Given the description of an element on the screen output the (x, y) to click on. 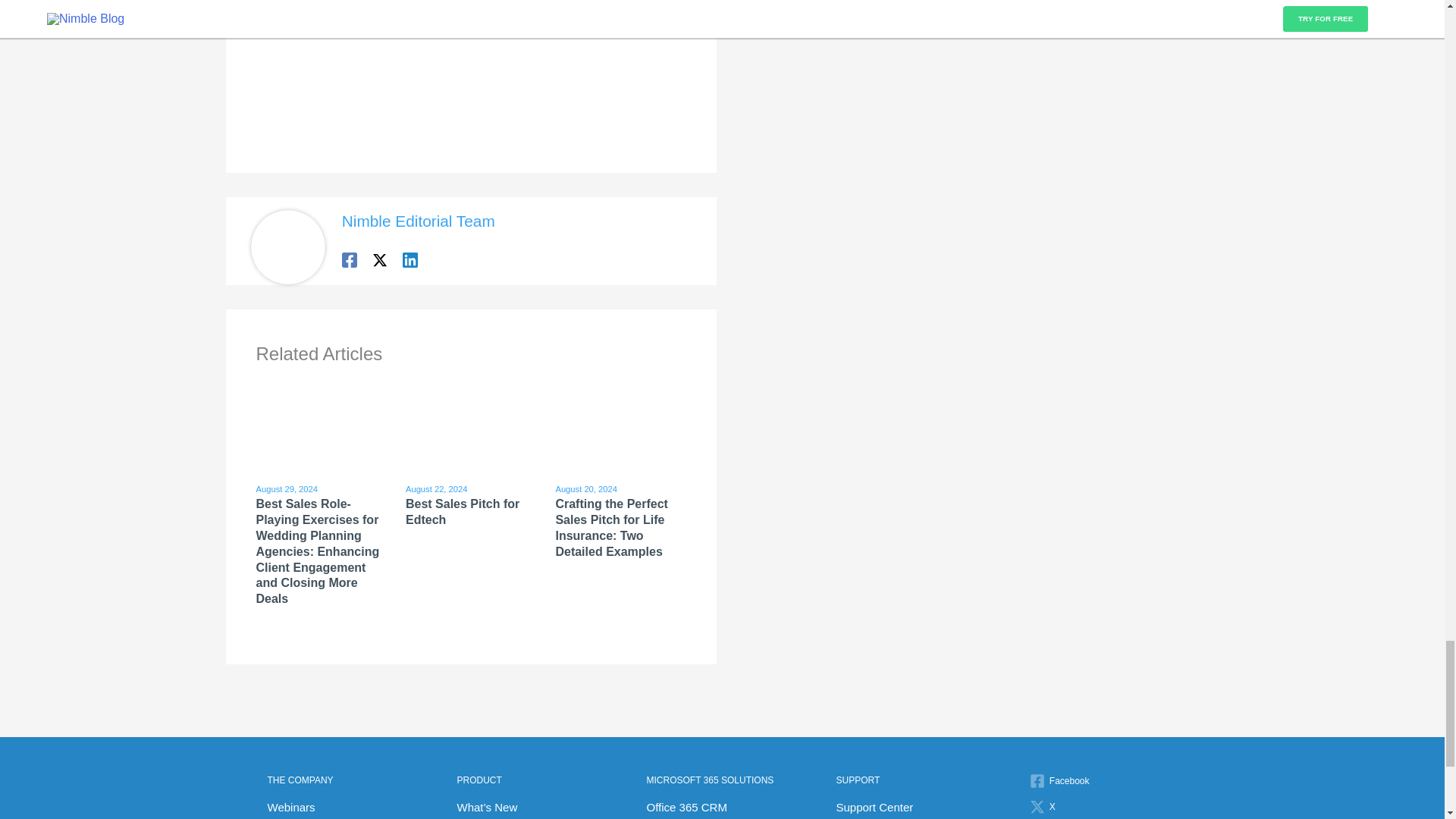
Nimble Editorial Team (418, 220)
Best Sales Pitch for Edtech (462, 511)
